Given the description of an element on the screen output the (x, y) to click on. 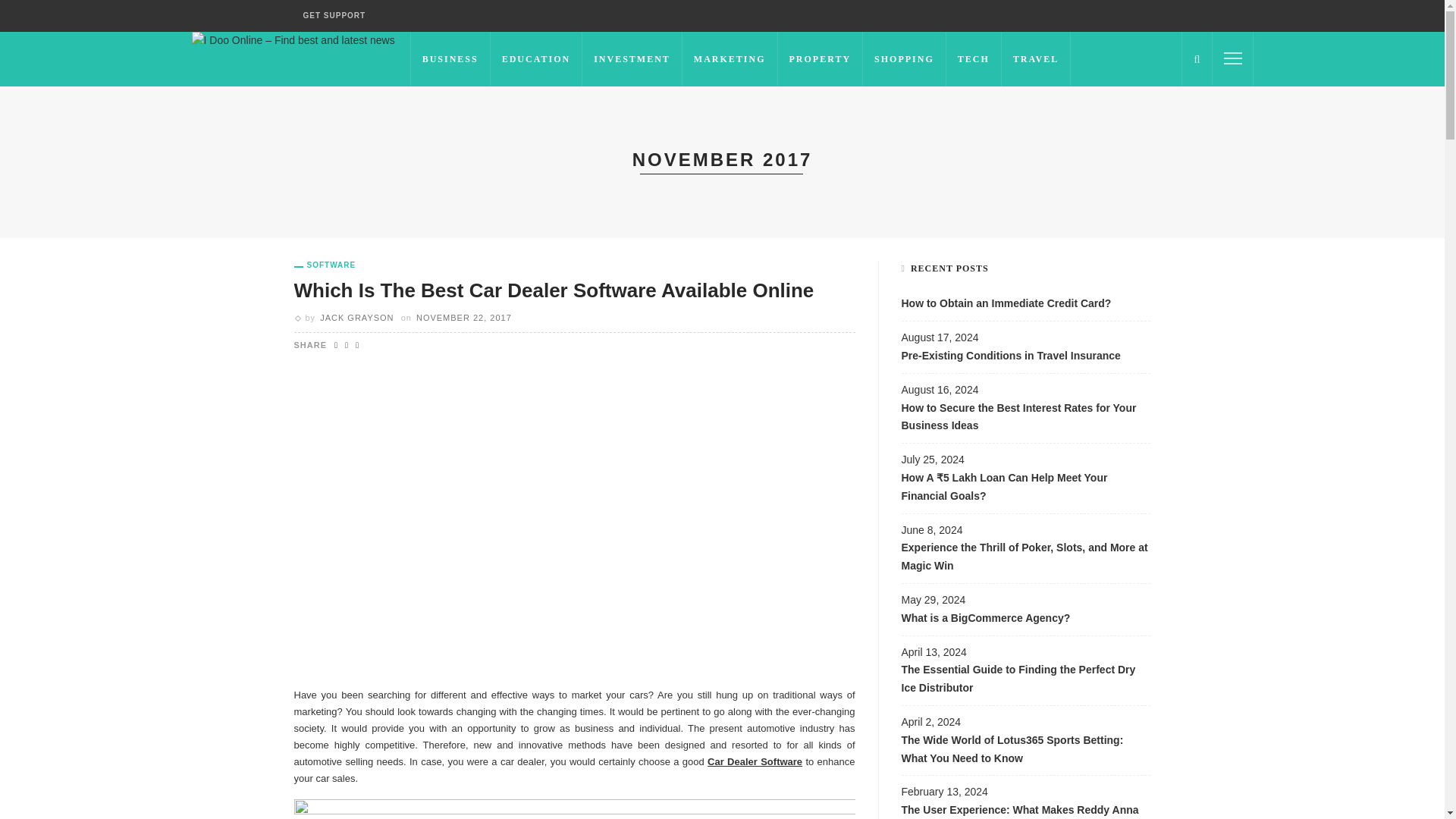
INVESTMENT (632, 58)
TECH (973, 58)
Which is the Best Car Dealer Software Available Online (553, 290)
BUSINESS (450, 58)
SOFTWARE (325, 265)
EDUCATION (536, 58)
TRAVEL (1035, 58)
Car Dealer Software (754, 761)
Which Is The Best Car Dealer Software Available Online (553, 290)
SHOPPING (904, 58)
